Given the description of an element on the screen output the (x, y) to click on. 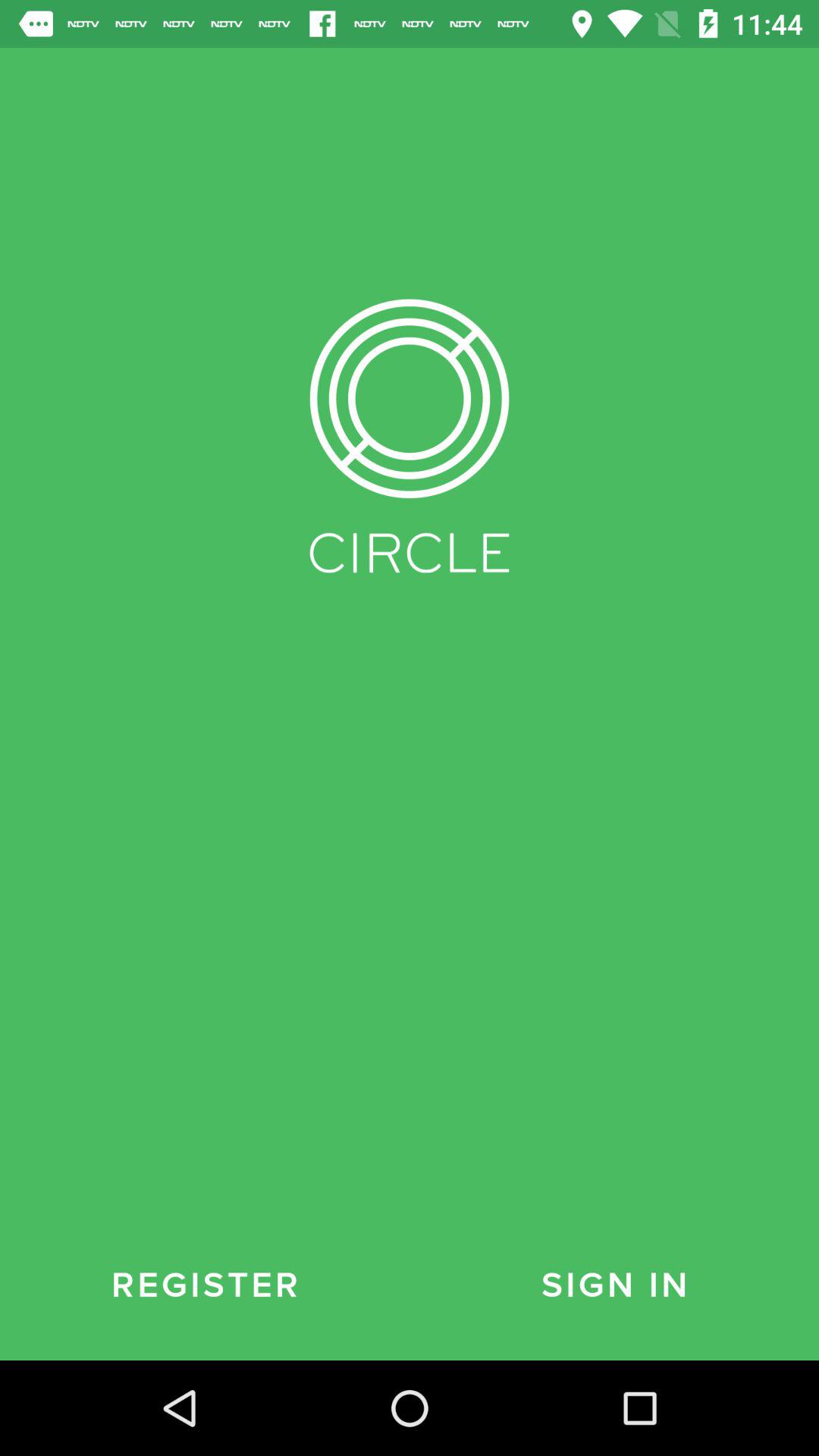
turn off the icon to the right of register icon (614, 1285)
